Given the description of an element on the screen output the (x, y) to click on. 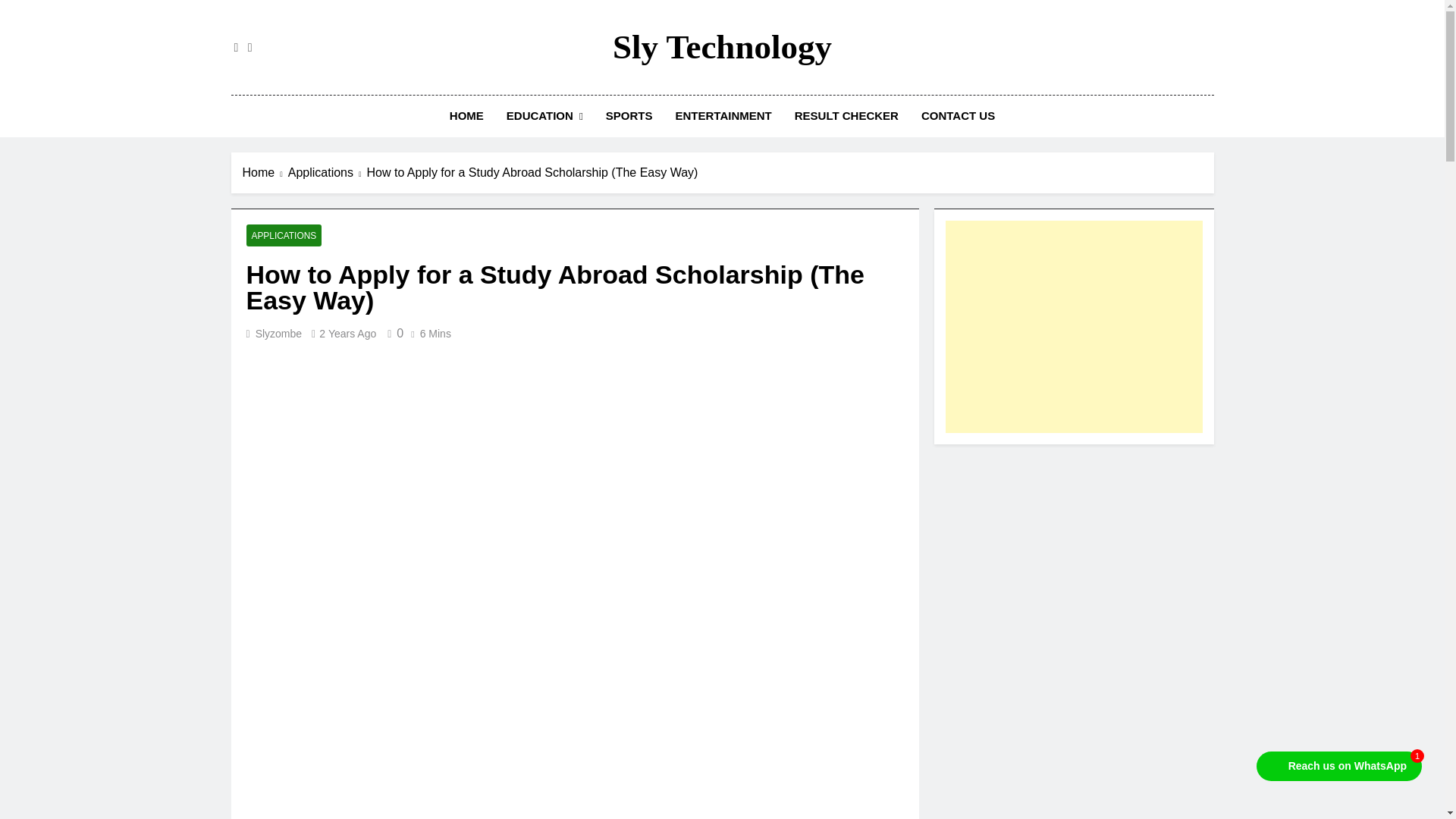
2 Years Ago (346, 333)
Sly Technology (721, 46)
CONTACT US (958, 115)
Applications (327, 172)
APPLICATIONS (283, 235)
Advertisement (1073, 326)
EDUCATION (544, 116)
0 (392, 332)
HOME (466, 115)
SPORTS (628, 115)
